Given the description of an element on the screen output the (x, y) to click on. 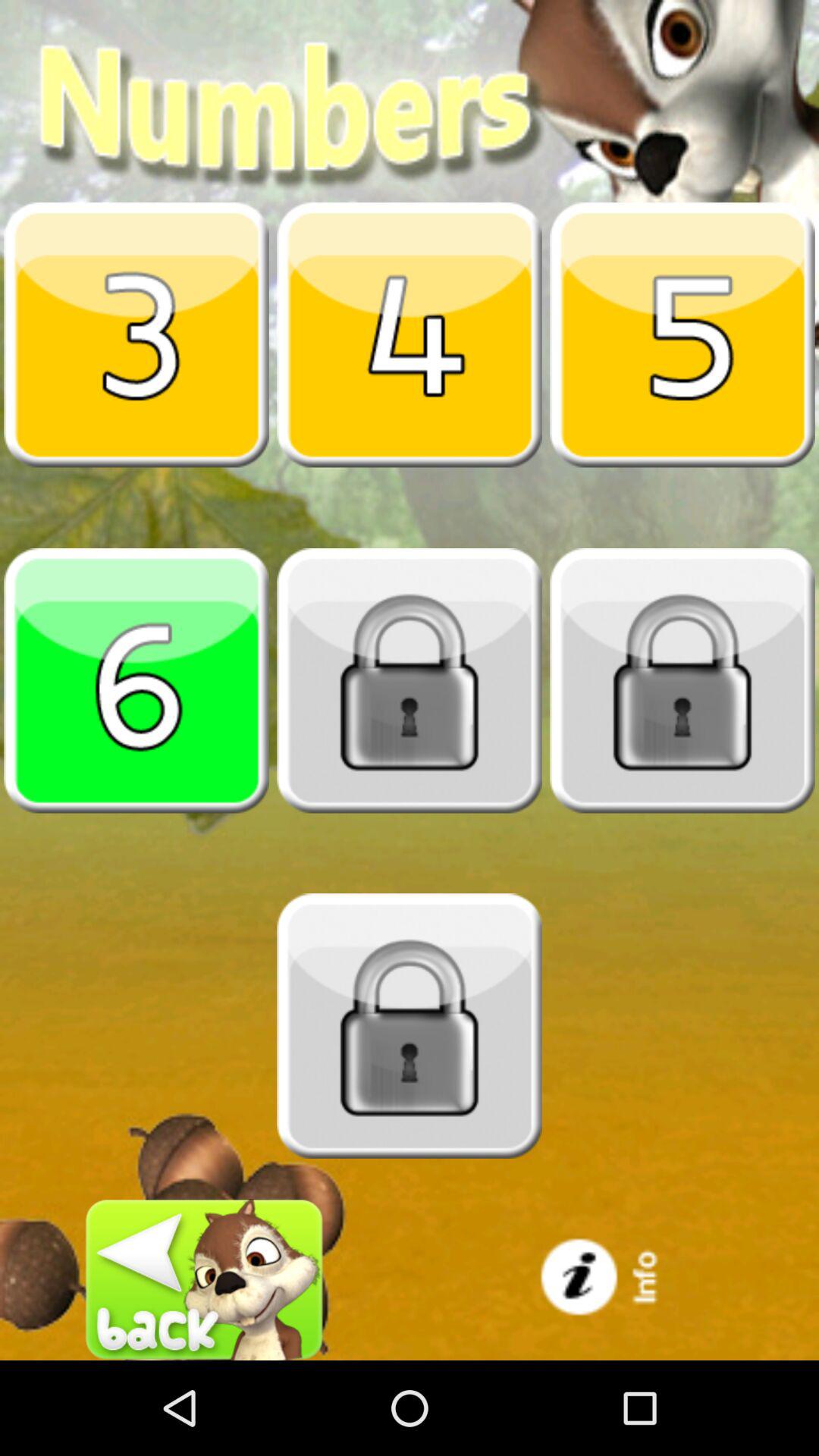
press 4 (409, 334)
